Given the description of an element on the screen output the (x, y) to click on. 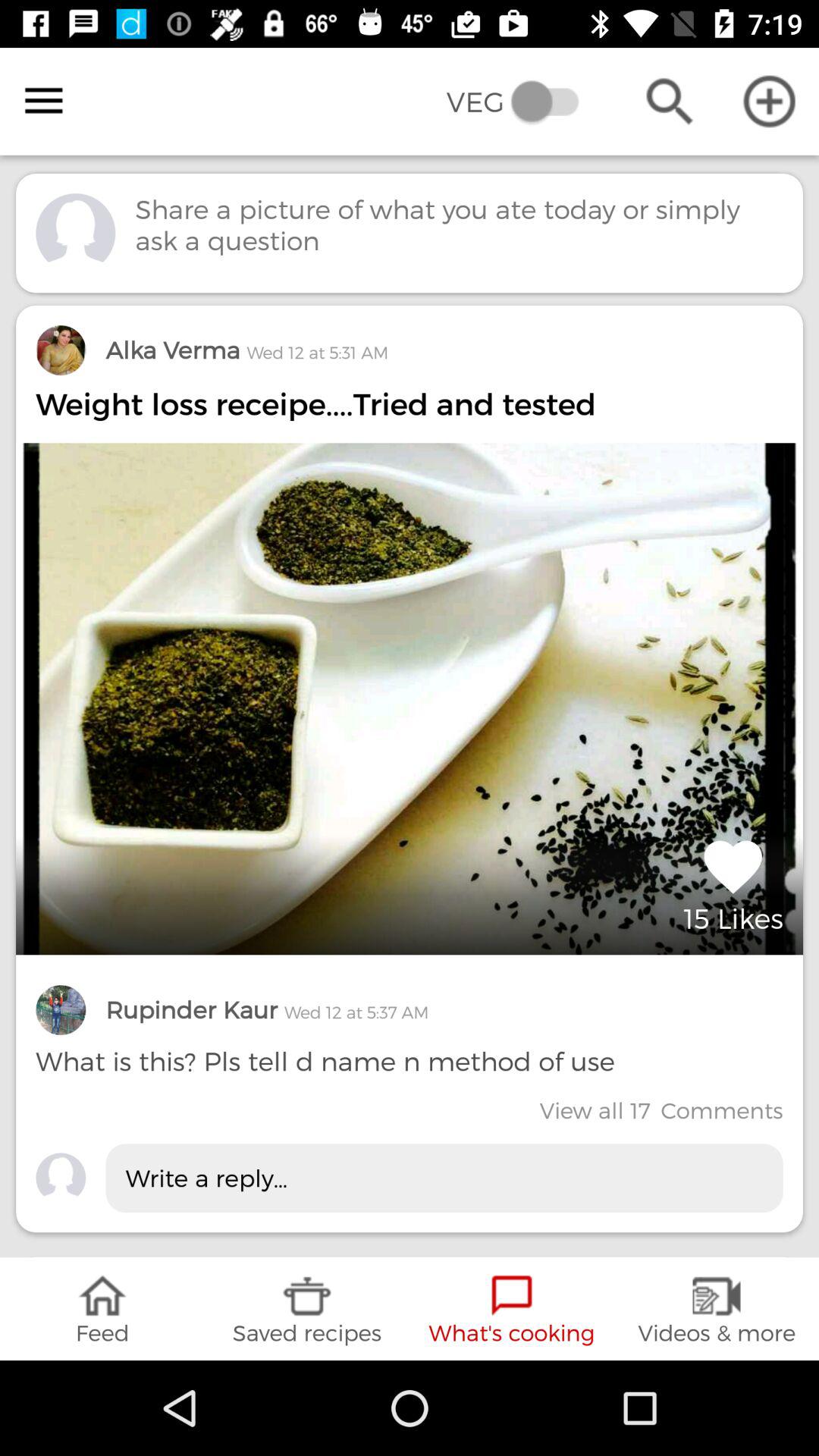
launch the icon below write a reply... item (102, 1308)
